Given the description of an element on the screen output the (x, y) to click on. 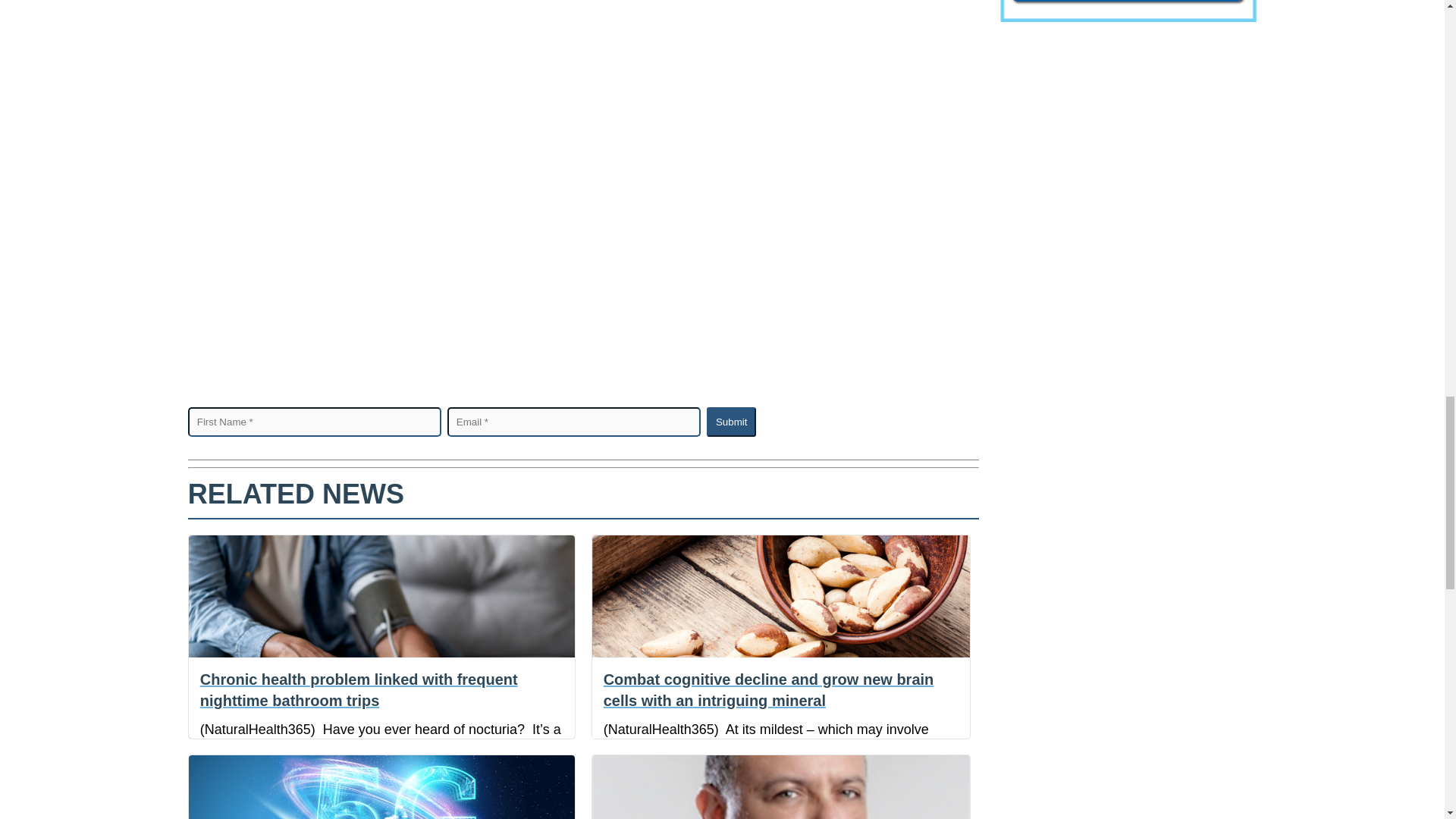
Submit (730, 421)
Submit (730, 421)
